Given the description of an element on the screen output the (x, y) to click on. 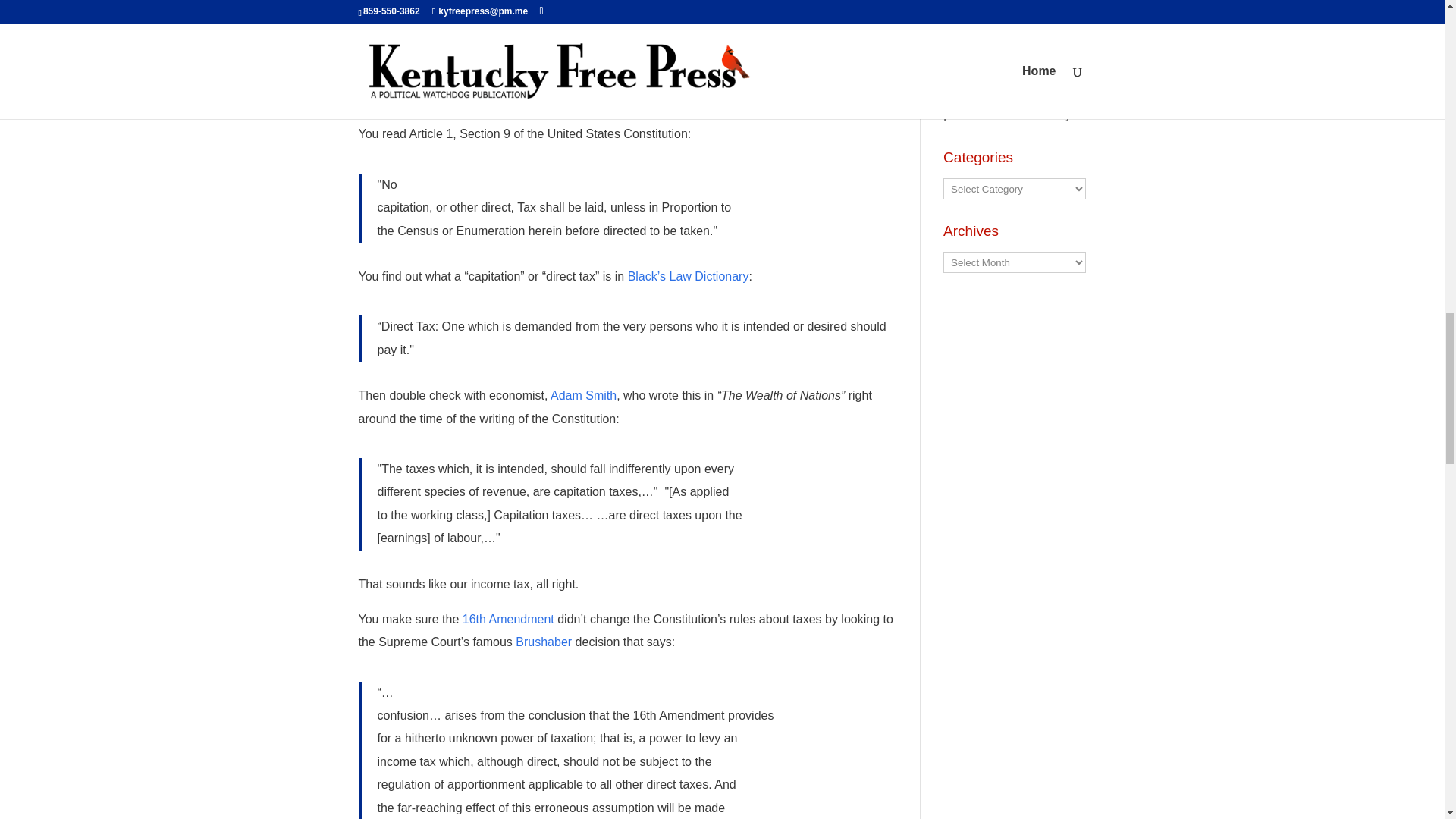
16th Amendment (508, 618)
Brushaber (543, 641)
Adam Smith (582, 395)
